Given the description of an element on the screen output the (x, y) to click on. 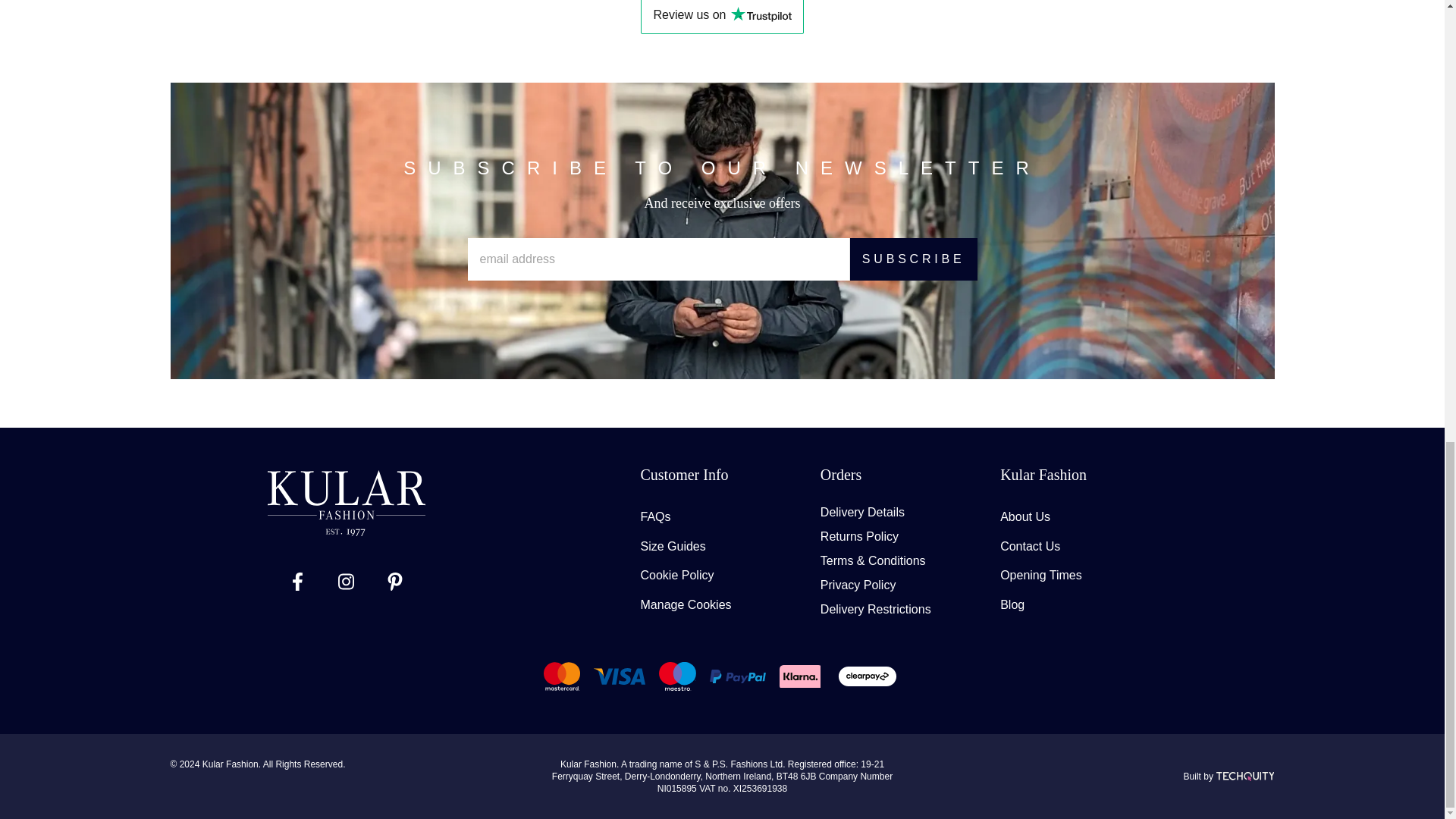
Subscribe (912, 259)
